Given the description of an element on the screen output the (x, y) to click on. 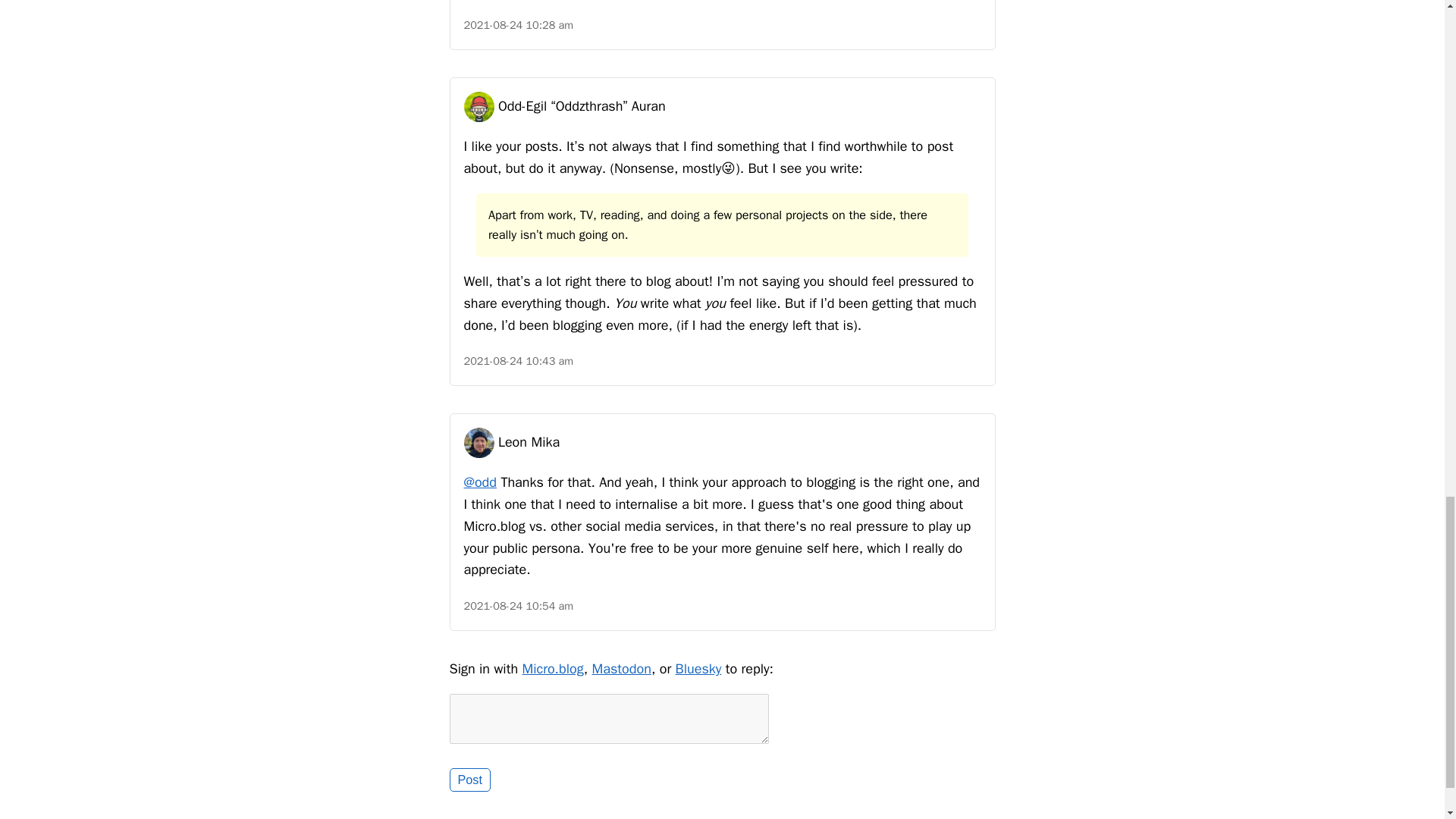
Post (468, 779)
Post (468, 779)
